Given the description of an element on the screen output the (x, y) to click on. 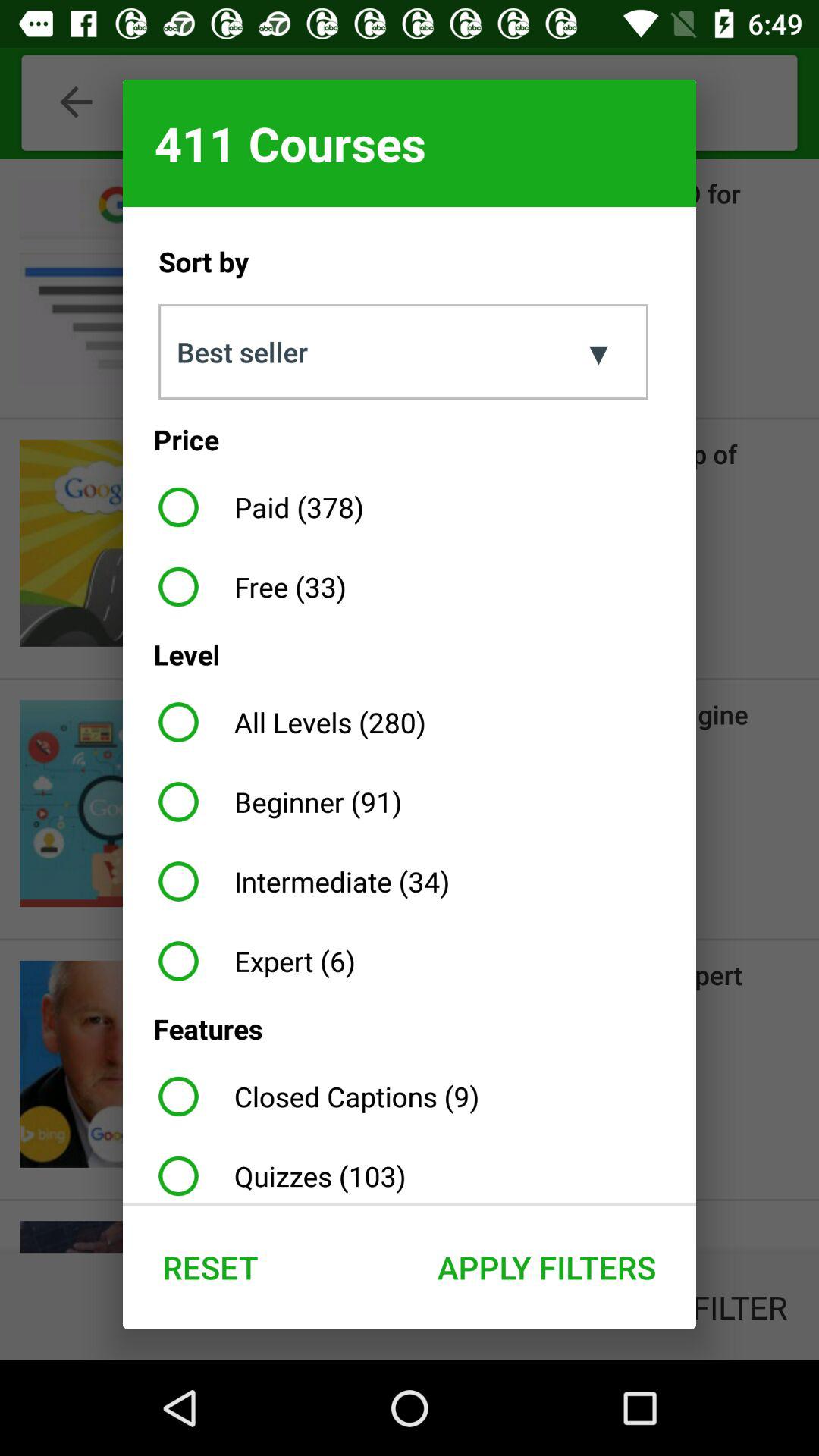
launch item to the right of the sort by item (594, 351)
